Given the description of an element on the screen output the (x, y) to click on. 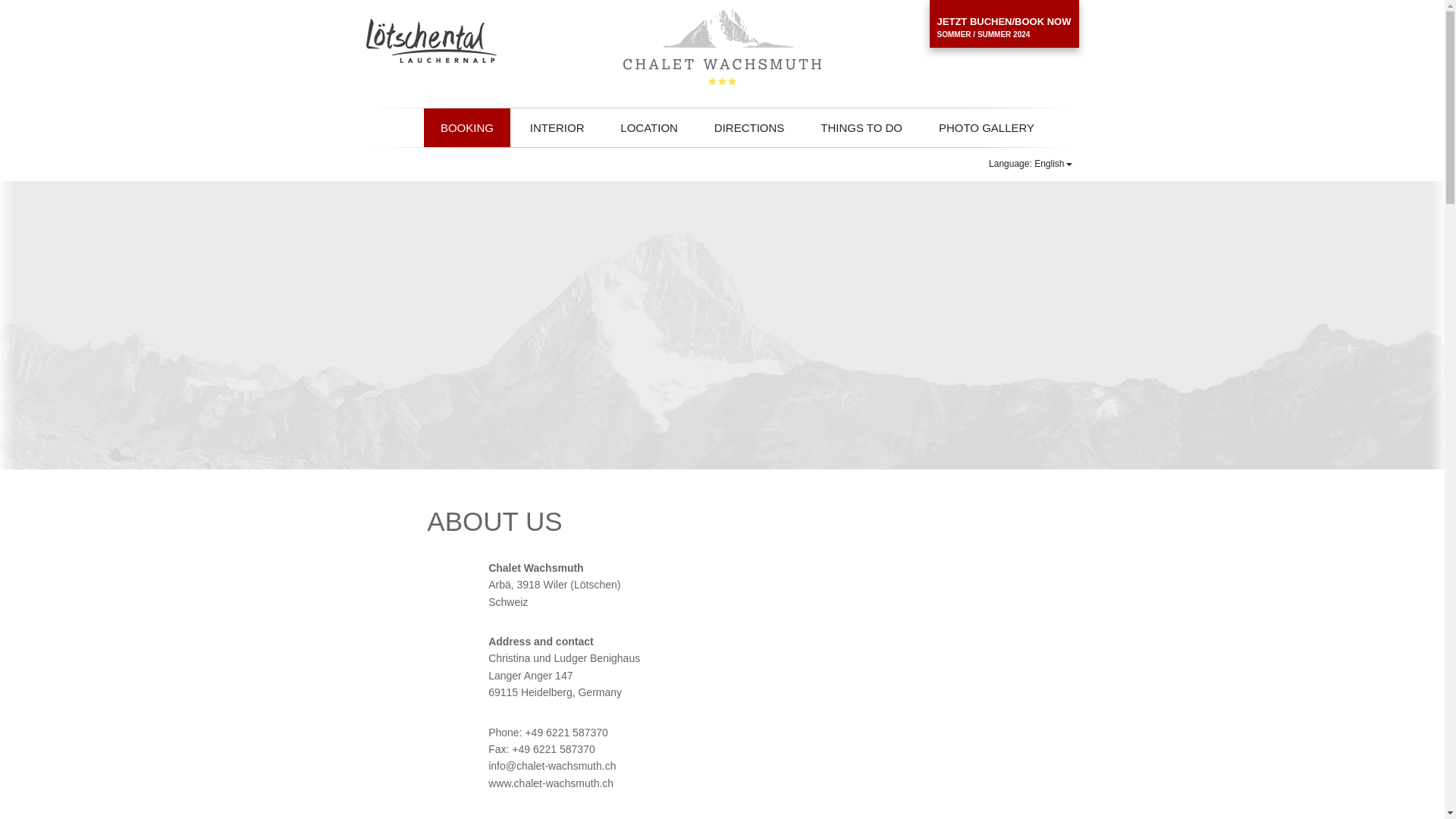
DIRECTIONS (749, 127)
THINGS TO DO (860, 127)
Photo Gallery (986, 127)
Things to do (860, 127)
PHOTO GALLERY (986, 127)
Directions (749, 127)
INTERIOR (557, 127)
Interior (557, 127)
Location (649, 127)
Language: English (1029, 163)
Booking (467, 127)
LOCATION (649, 127)
BOOKING (467, 127)
